Given the description of an element on the screen output the (x, y) to click on. 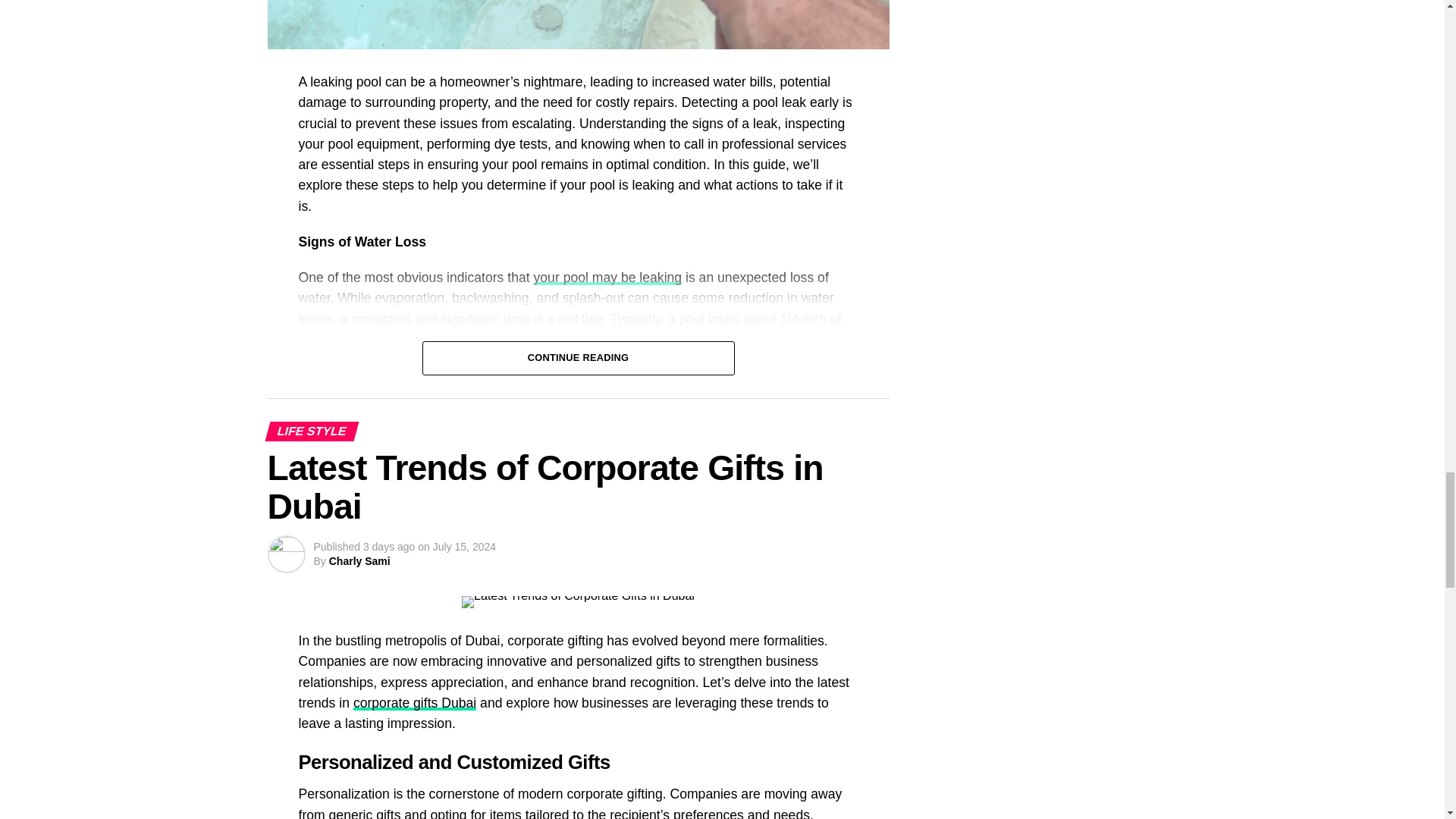
Posts by Charly Sami (359, 561)
